Given the description of an element on the screen output the (x, y) to click on. 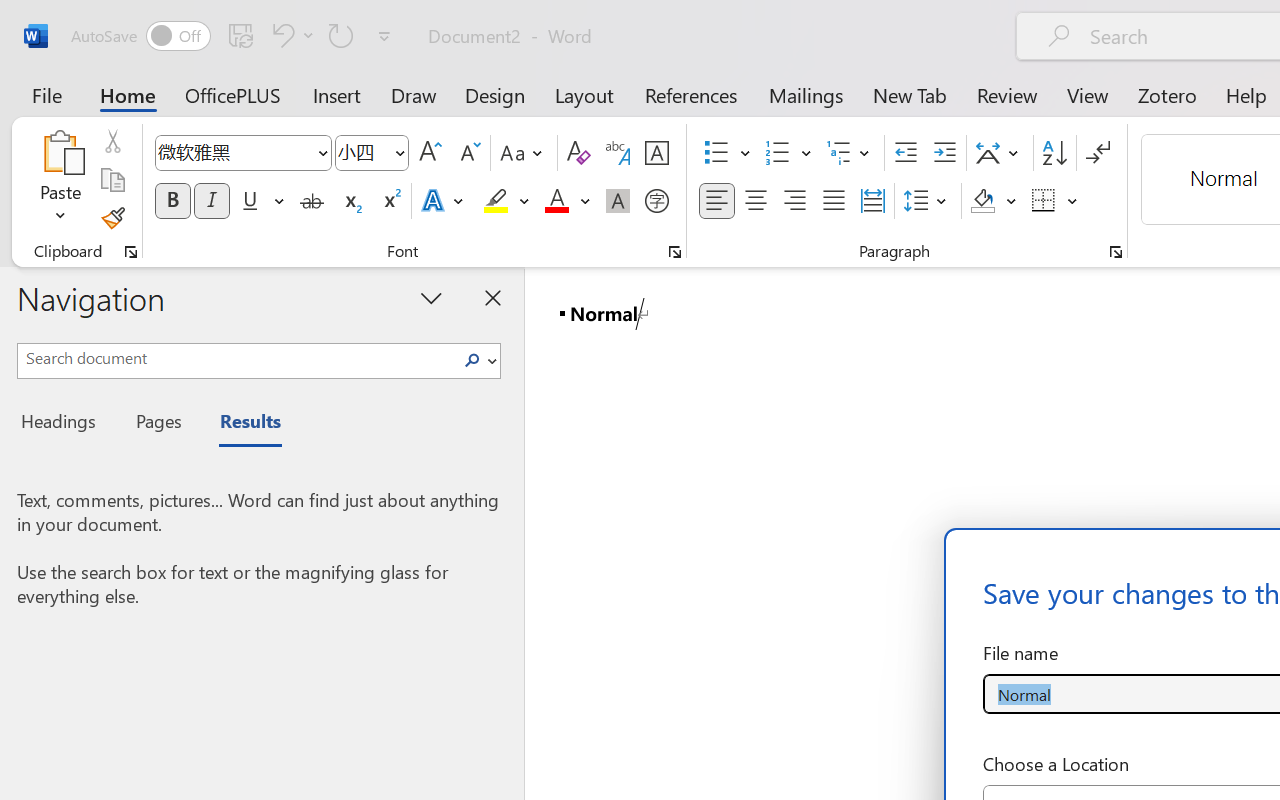
Search (471, 360)
Borders (1055, 201)
Shading (993, 201)
Justify (834, 201)
Italic (212, 201)
Home (127, 94)
Center (756, 201)
Mailings (806, 94)
Underline (261, 201)
Task Pane Options (431, 297)
Text Highlight Color (506, 201)
Shrink Font (468, 153)
Bold (172, 201)
Phonetic Guide... (618, 153)
